Given the description of an element on the screen output the (x, y) to click on. 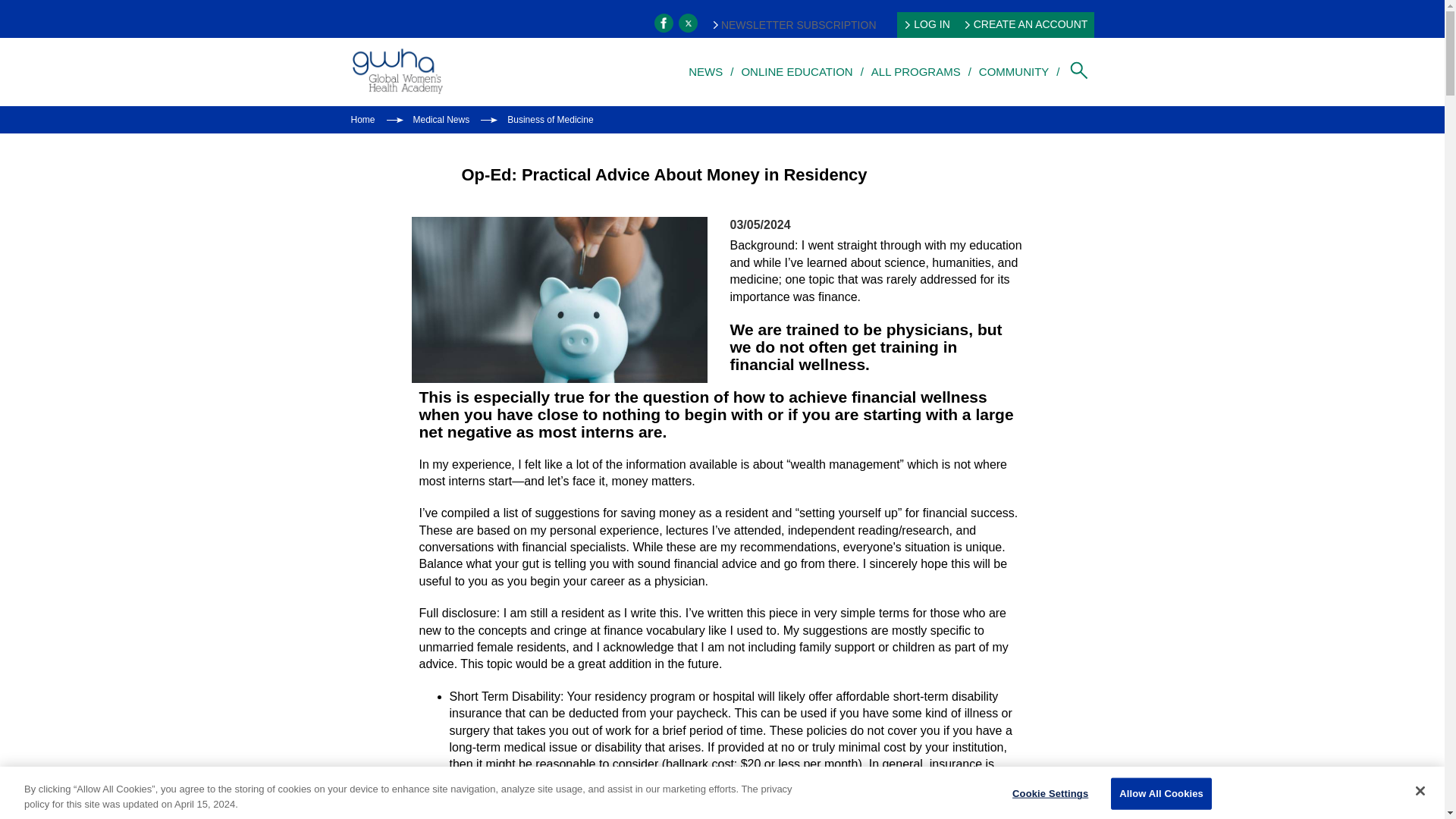
COMMUNITY (1013, 71)
ONLINE EDUCATION (796, 71)
LOG IN (927, 24)
ALL PROGRAMS (915, 71)
NEWS (705, 71)
CREATE AN ACCOUNT (1026, 24)
NEWSLETTER SUBSCRIPTION (794, 24)
Global Women's Health Academy (396, 71)
Twitter (687, 22)
